Given the description of an element on the screen output the (x, y) to click on. 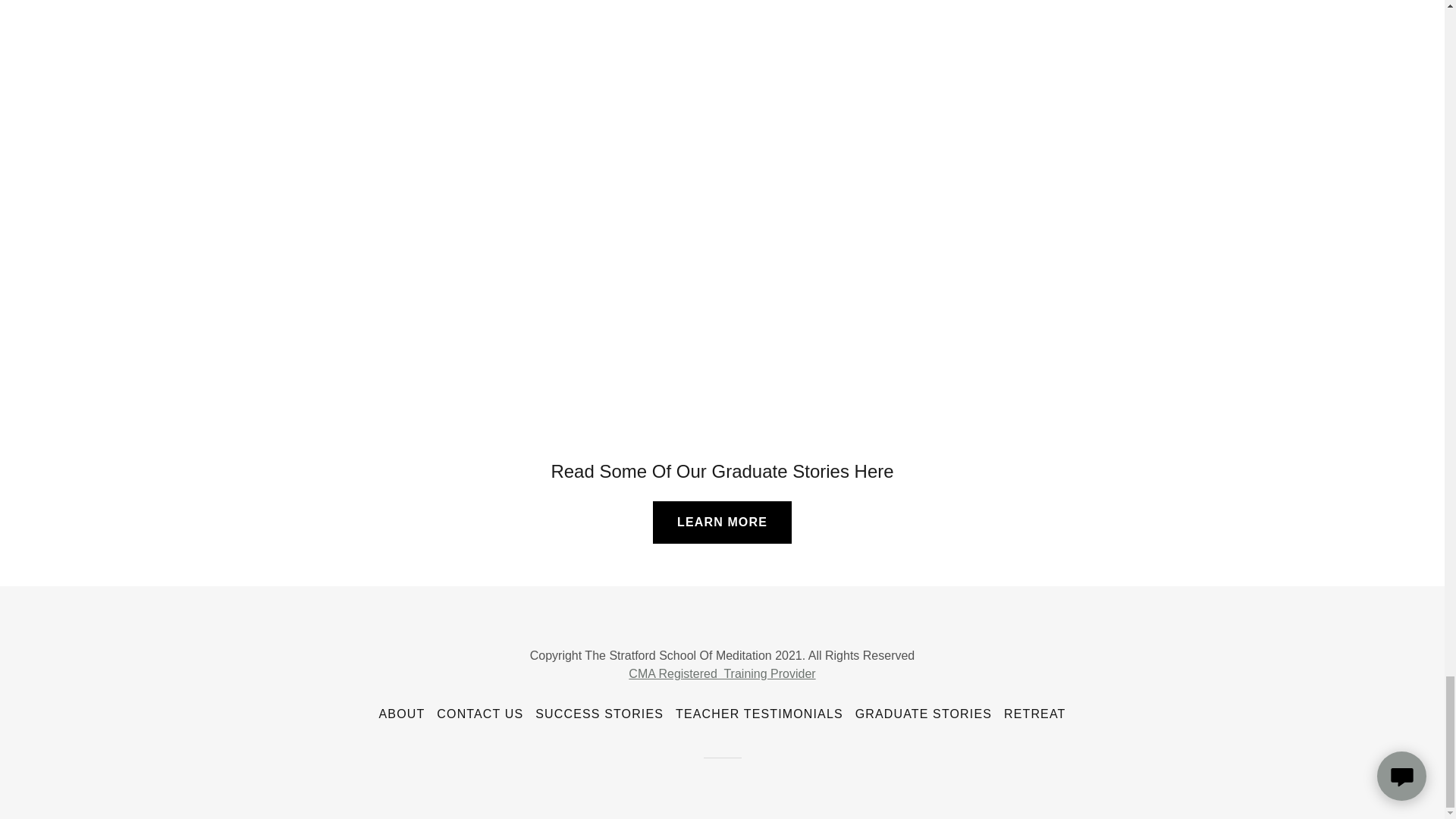
SUCCESS STORIES (599, 714)
ABOUT (401, 714)
LEARN MORE (722, 522)
TEACHER TESTIMONIALS (758, 714)
CONTACT US (479, 714)
RETREAT (1034, 714)
CMA Registered  Training Provider (721, 673)
GRADUATE STORIES (922, 714)
